Given the description of an element on the screen output the (x, y) to click on. 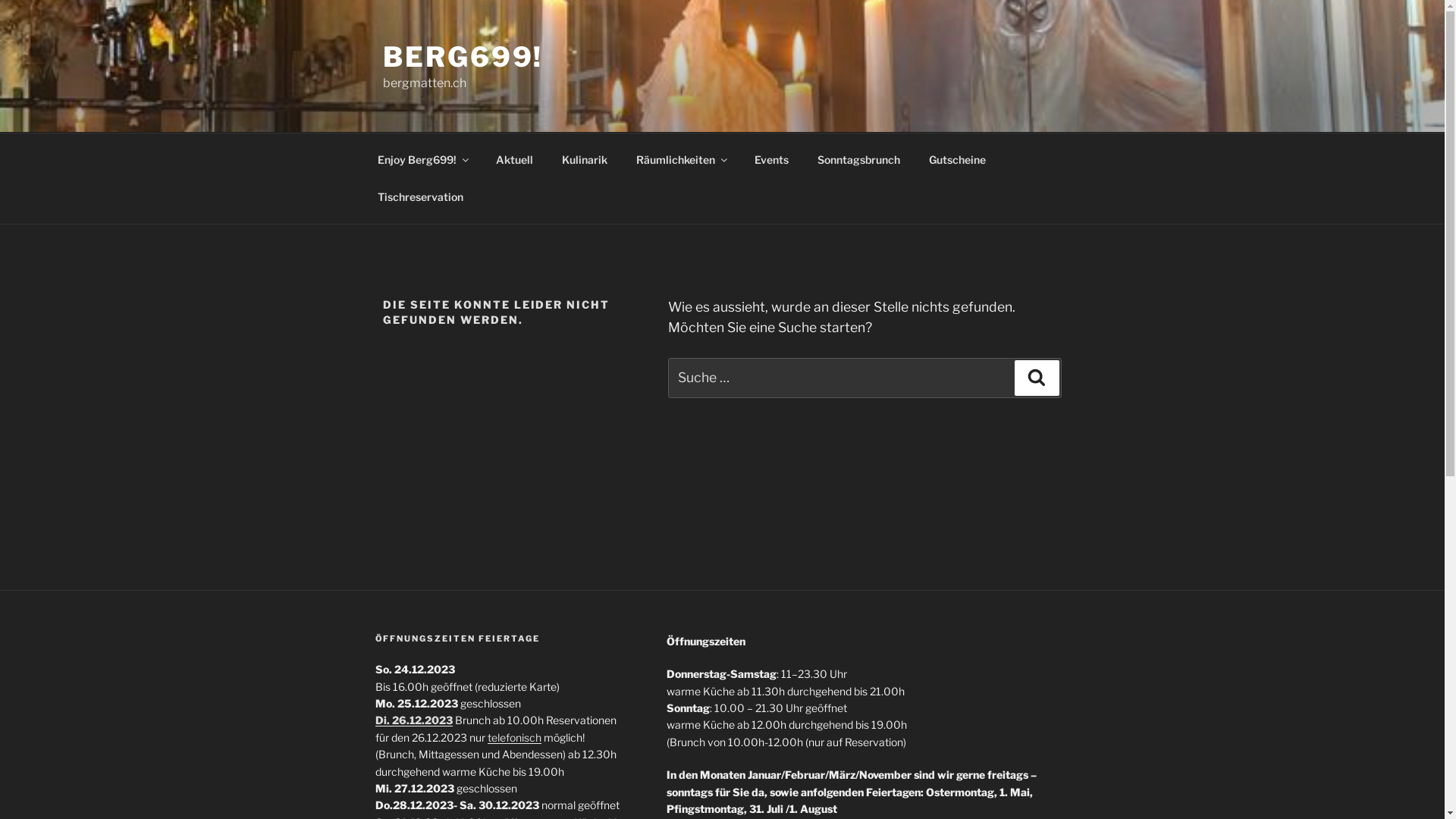
Tischreservation Element type: text (420, 196)
Sonntagsbrunch Element type: text (858, 159)
Aktuell Element type: text (514, 159)
Suche Element type: text (1036, 377)
Enjoy Berg699! Element type: text (422, 159)
Kulinarik Element type: text (585, 159)
Events Element type: text (771, 159)
BERG699! Element type: text (462, 56)
telefonisch Element type: text (513, 737)
Gutscheine Element type: text (957, 159)
Di. 26.12.2023 Element type: text (412, 719)
